Given the description of an element on the screen output the (x, y) to click on. 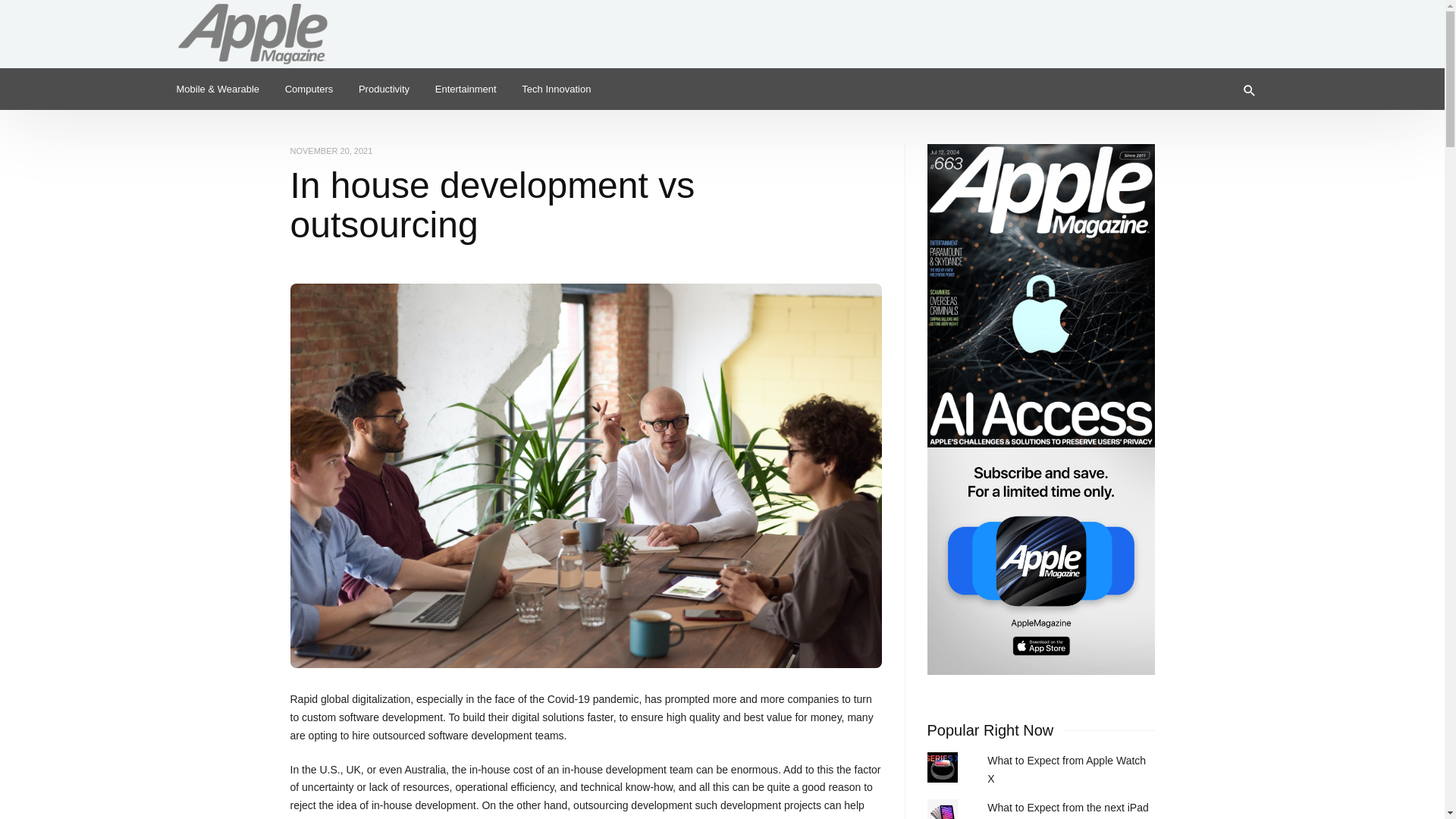
Instagram (1228, 26)
Computers (309, 88)
Entertainment (465, 88)
Twitter (1203, 26)
Tech Innovation (556, 88)
Productivity (383, 88)
Facebook (1252, 26)
